Given the description of an element on the screen output the (x, y) to click on. 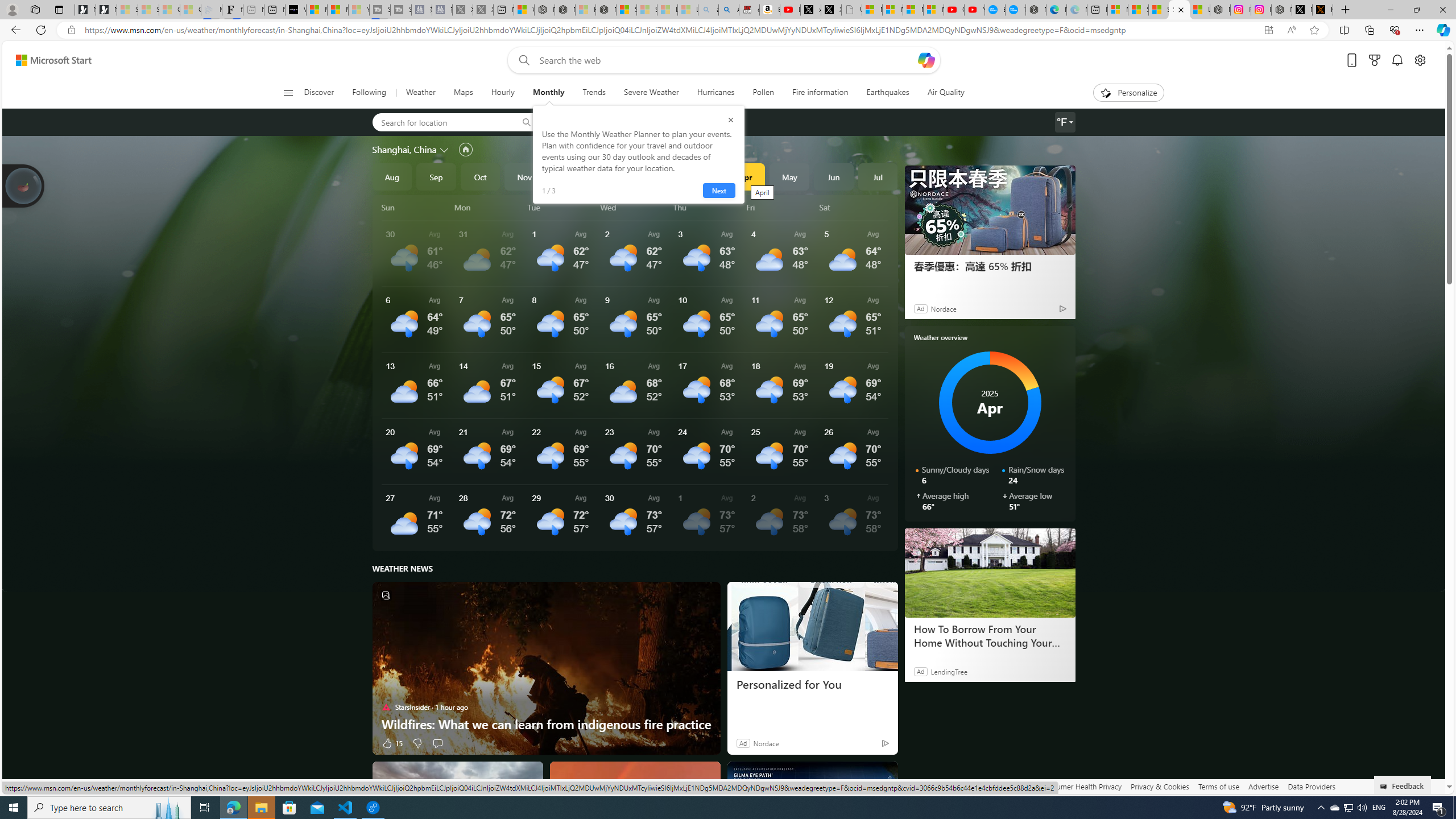
LendingTree (948, 671)
Remove location (653, 122)
Nordace (@NordaceOfficial) / X (1302, 9)
Dec (568, 176)
What's the best AI voice generator? - voice.ai (296, 9)
Wed (634, 207)
Apr (745, 176)
Discover (323, 92)
